Given the description of an element on the screen output the (x, y) to click on. 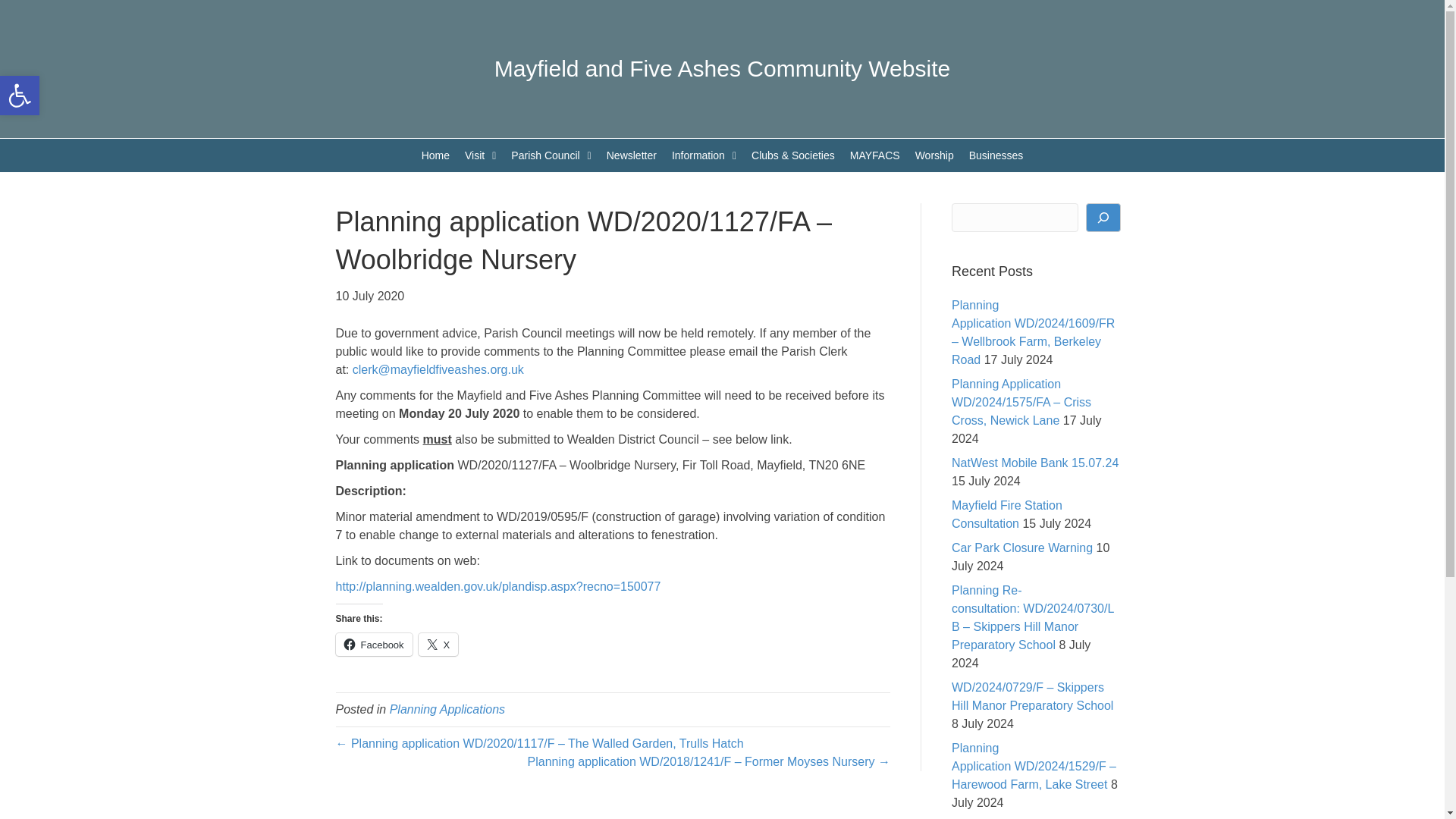
Click to share on Facebook (19, 95)
Mayfield and Five Ashes Community Website (373, 644)
Click to share on X (722, 68)
Home (438, 644)
Visit (435, 154)
Accessibility Tools (480, 154)
Parish Council (19, 95)
Accessibility Tools (550, 154)
Mayfield and Five Ashes Community Website (19, 95)
